Given the description of an element on the screen output the (x, y) to click on. 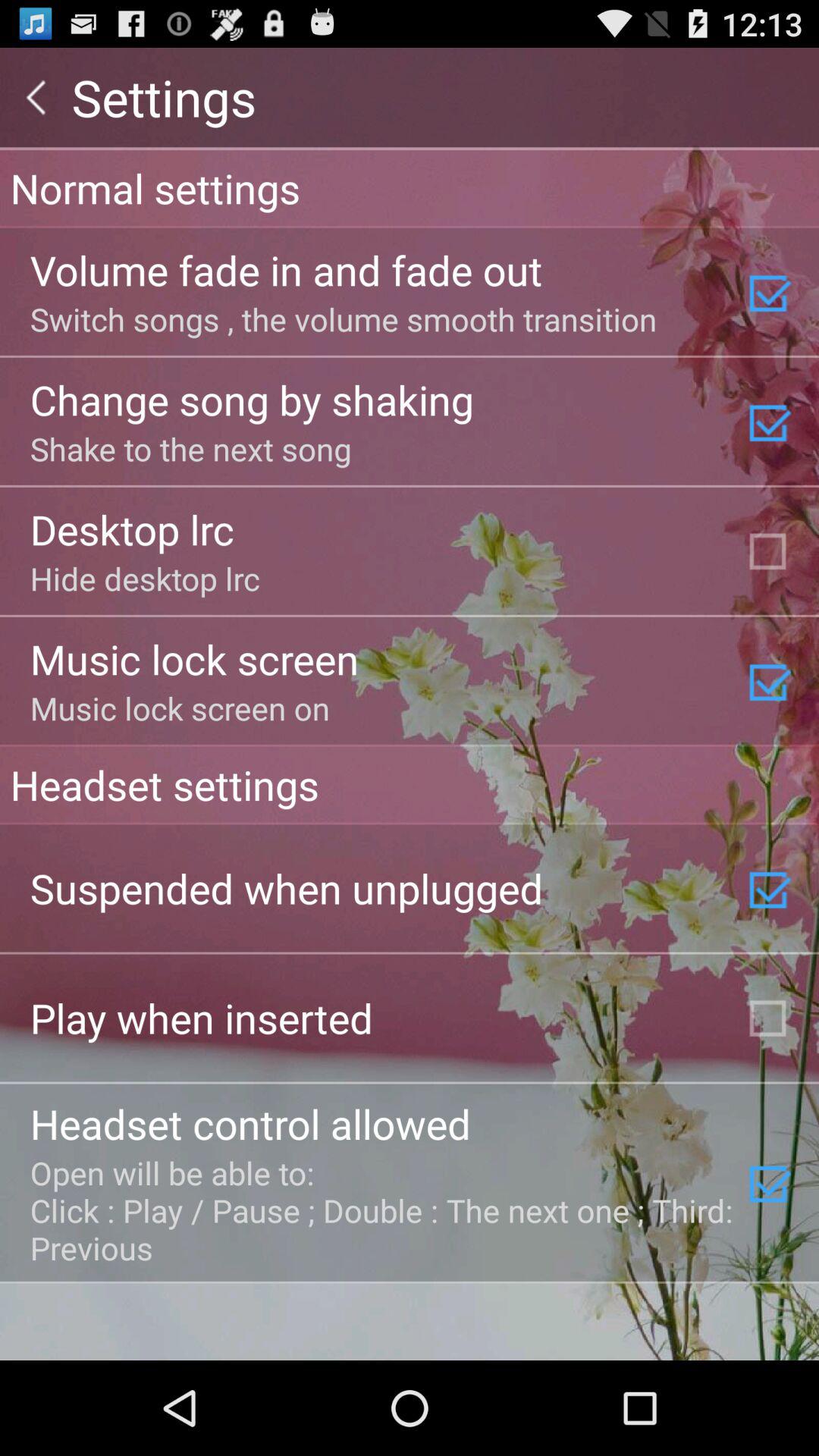
scroll to the open will be app (383, 1210)
